Given the description of an element on the screen output the (x, y) to click on. 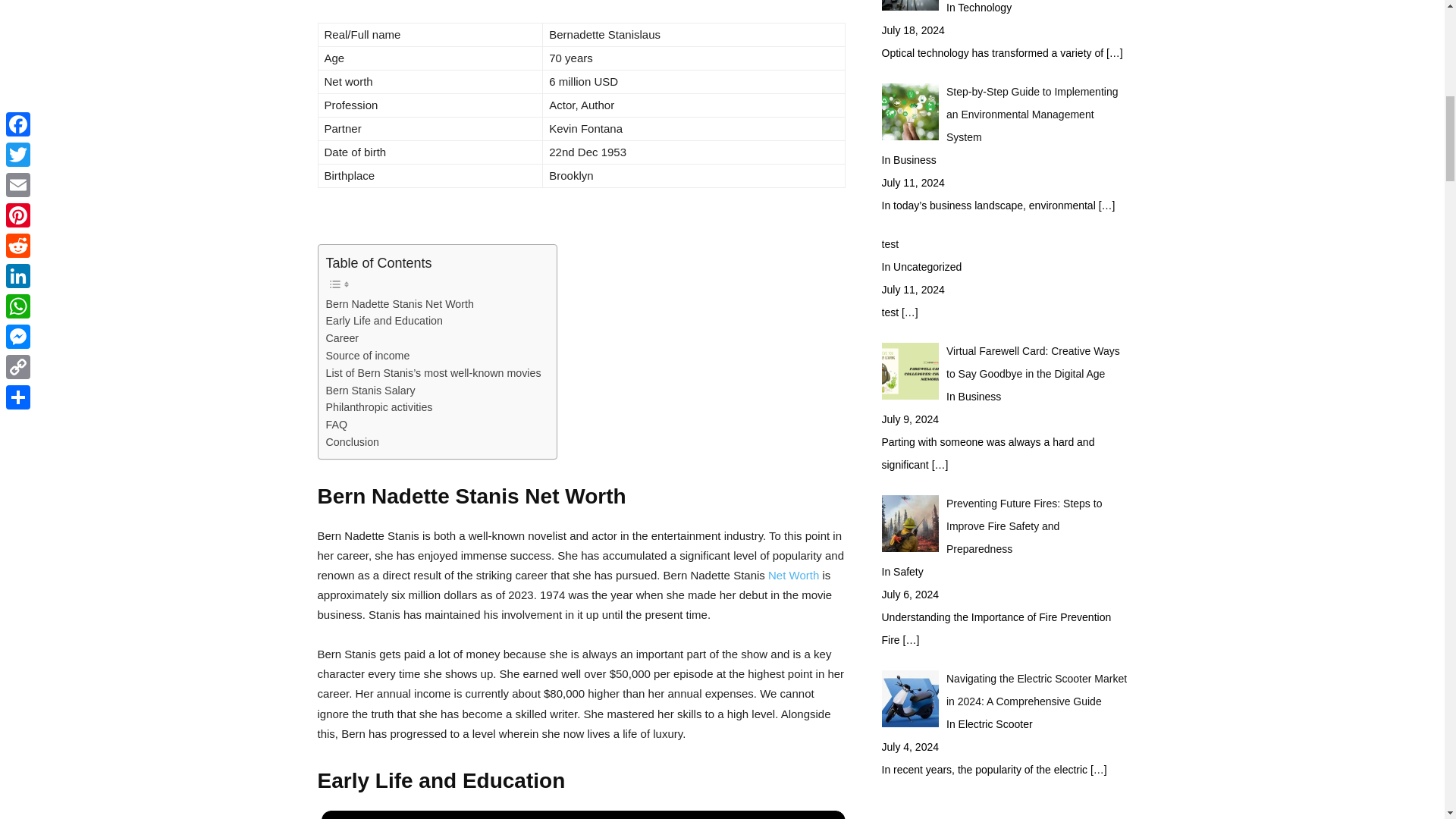
Early Life and Education (384, 321)
Bern Nadette Stanis Net Worth (400, 303)
Career (342, 338)
Source of income (368, 355)
